Given the description of an element on the screen output the (x, y) to click on. 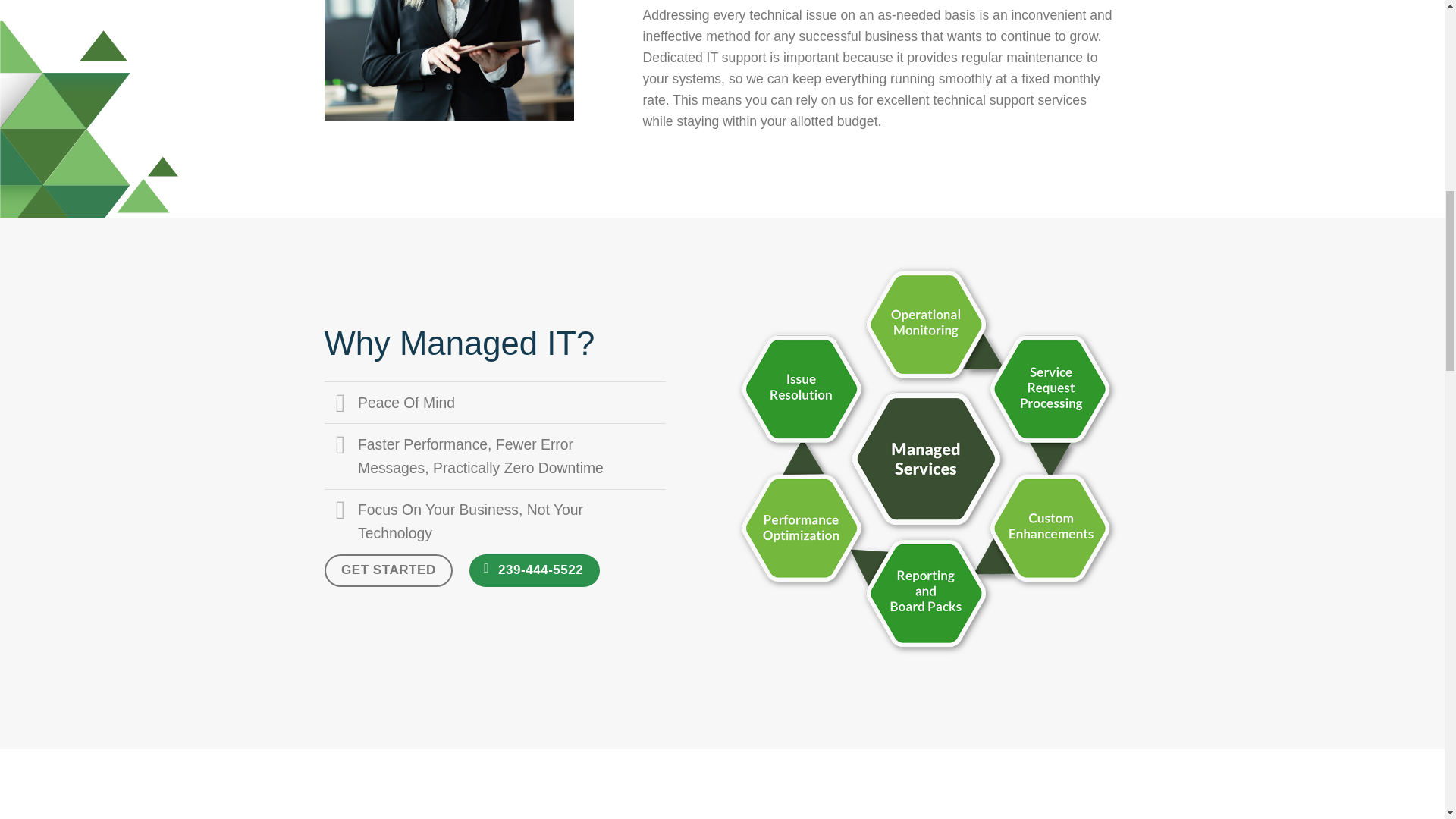
GET STARTED (388, 570)
Focus On Your Business, Not Your Technology (494, 521)
Peace Of Mind (494, 402)
239-444-5522 (533, 570)
